Given the description of an element on the screen output the (x, y) to click on. 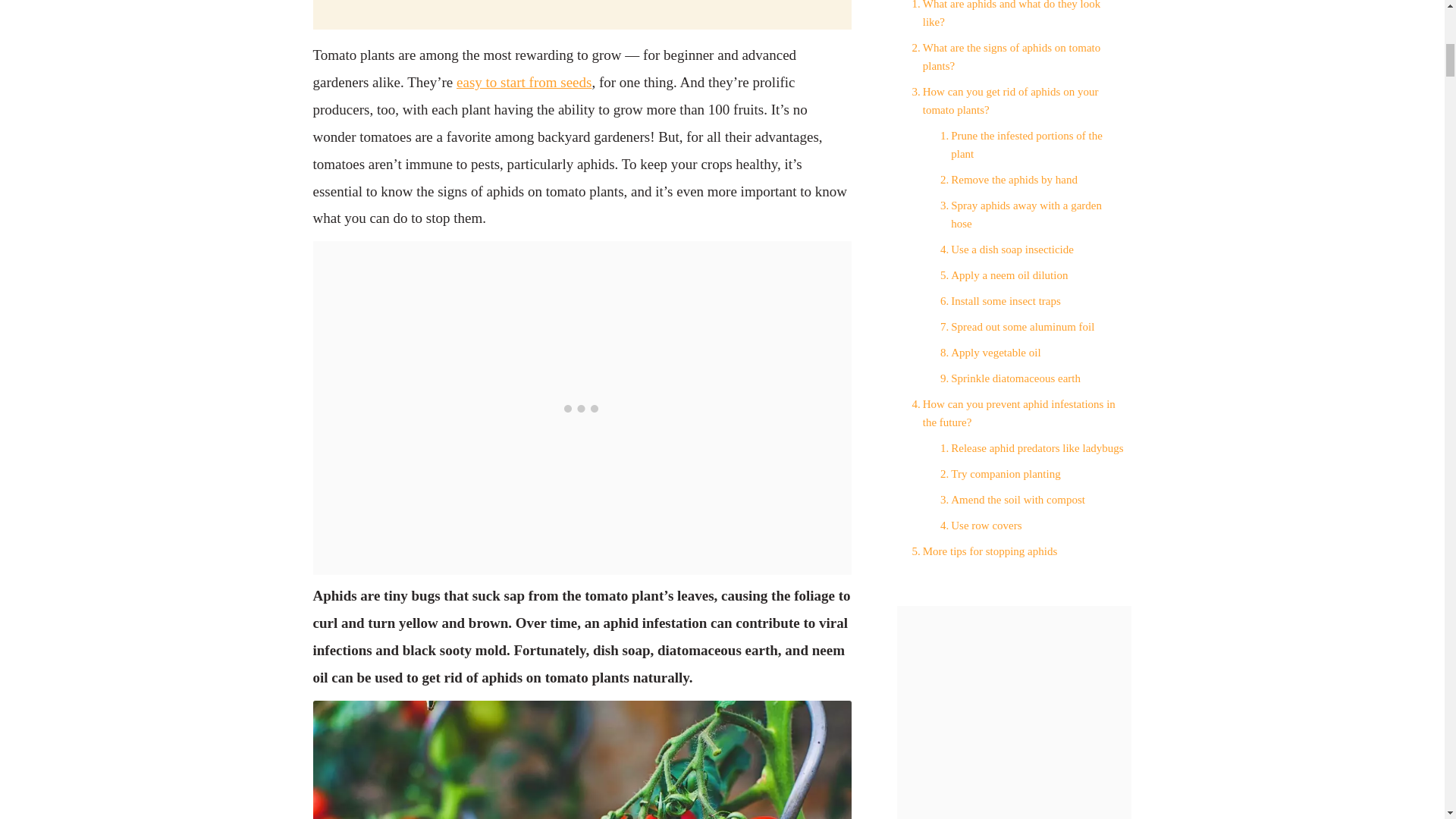
What are aphids and what do they look like? (1014, 15)
easy to start from seeds (524, 82)
